Given the description of an element on the screen output the (x, y) to click on. 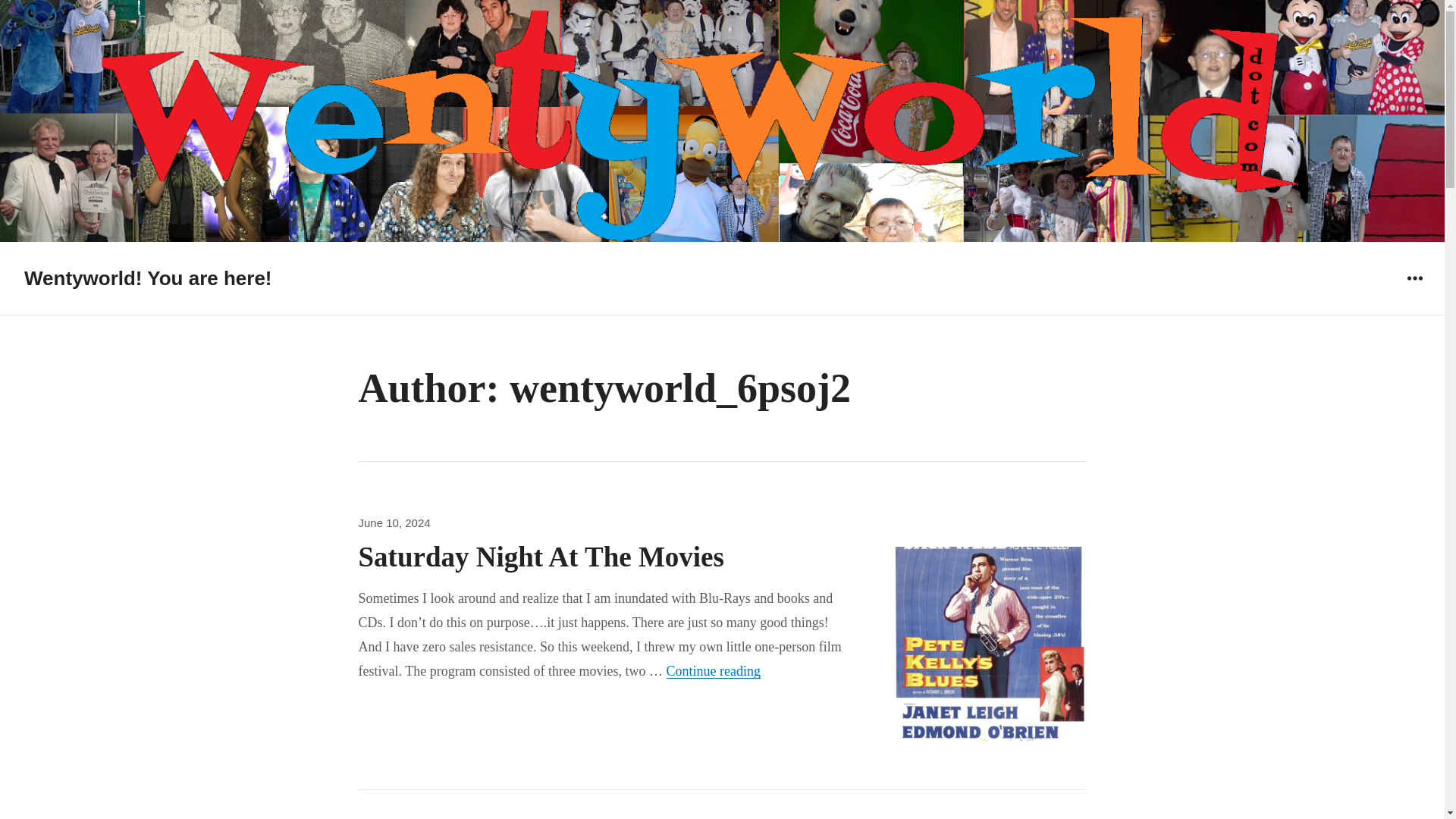
WIDGETS (1414, 278)
Saturday Night At The Movies (540, 556)
Wentyworld! You are here! (148, 277)
June 10, 2024 (713, 670)
